Given the description of an element on the screen output the (x, y) to click on. 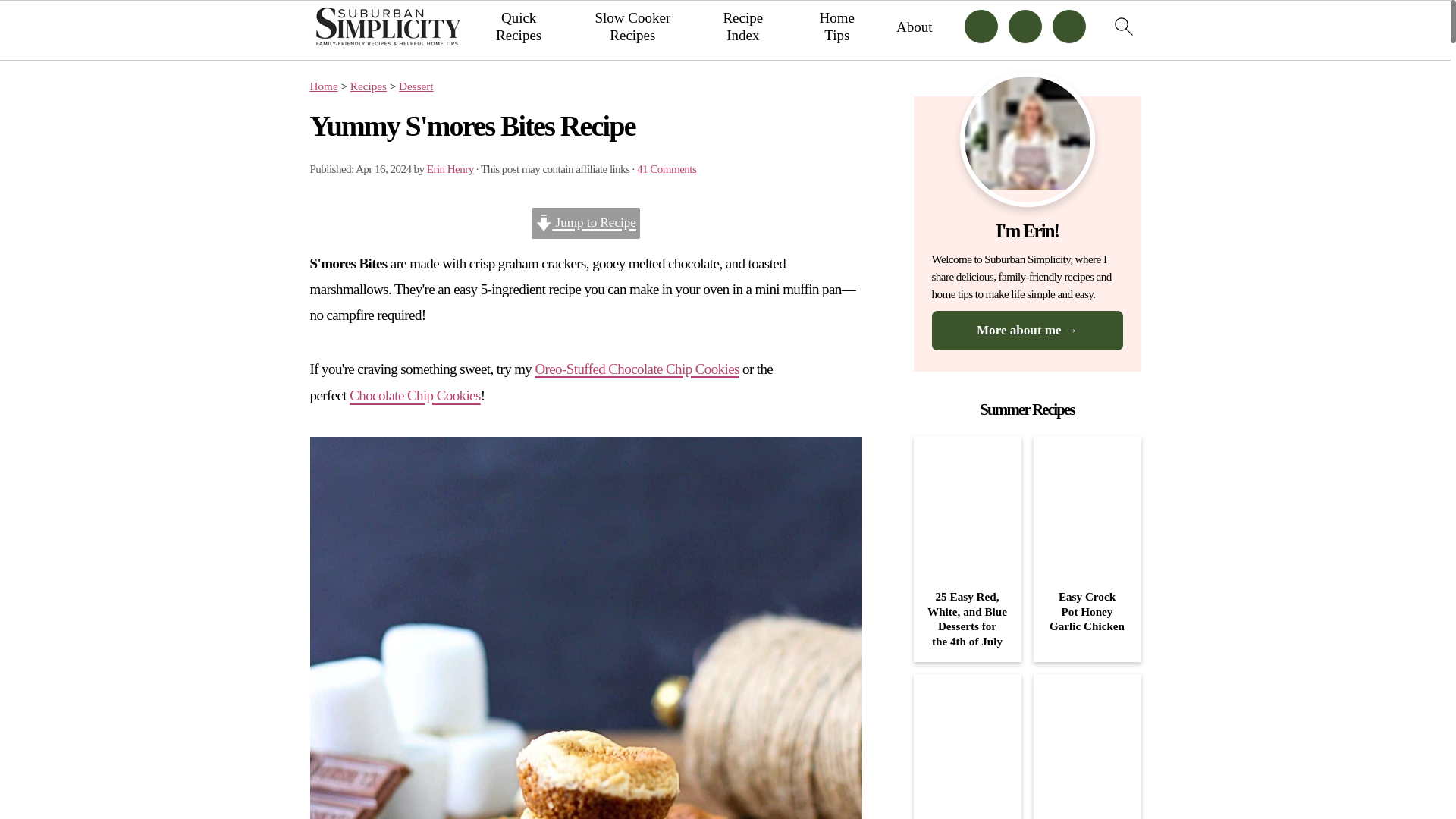
41 Comments (666, 168)
About (914, 27)
Quick Recipes (518, 27)
search icon (1122, 26)
Recipes (368, 85)
Erin Henry (450, 168)
Home (322, 85)
Jump to Recipe (585, 223)
Recipe Index (742, 27)
